Given the description of an element on the screen output the (x, y) to click on. 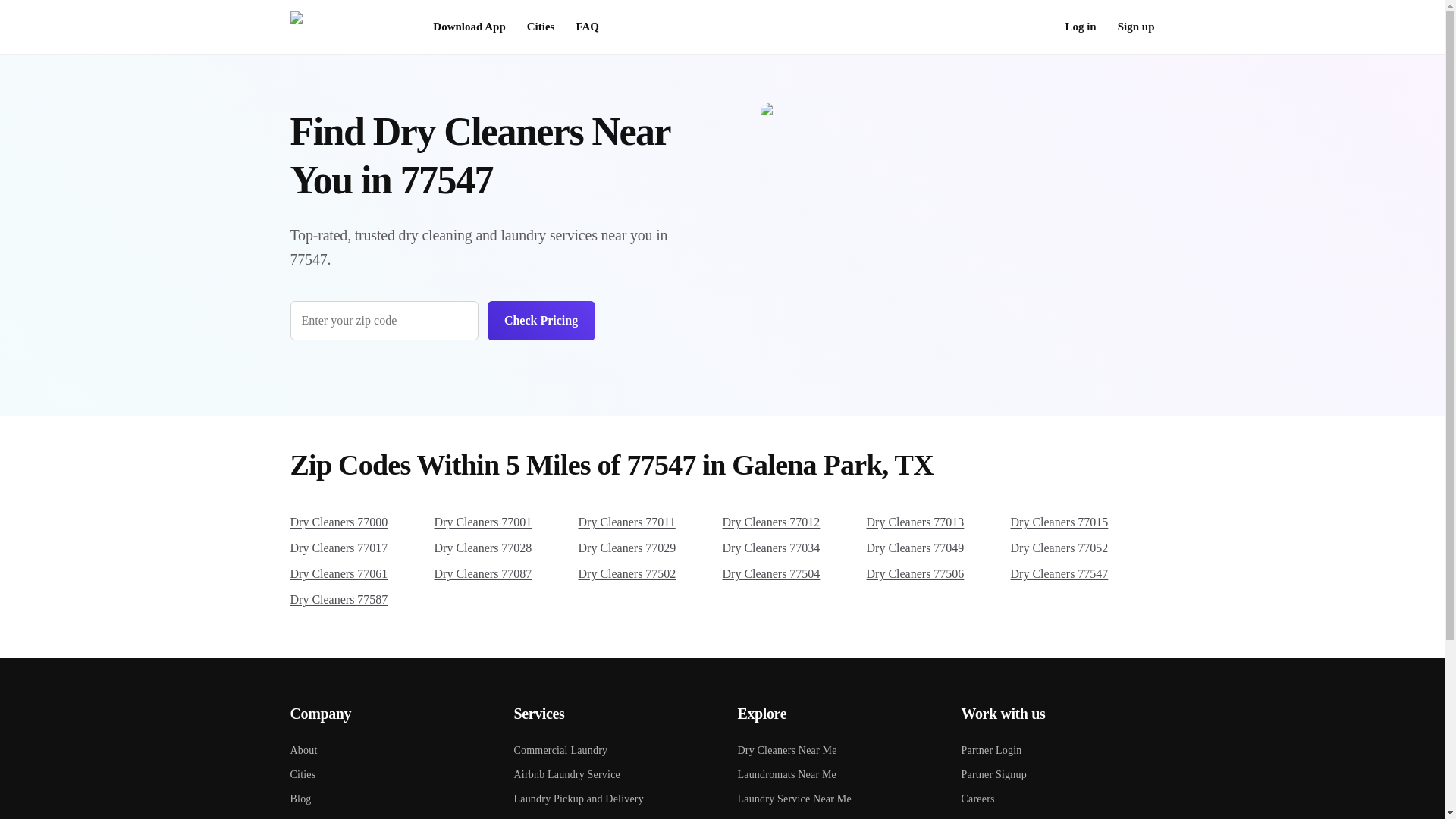
Dry Cleaners 77506 (938, 574)
Dry Cleaners 77504 (794, 574)
Dry Cleaners 77015 (1082, 522)
Dry Cleaners 77087 (505, 574)
Dry Cleaners 77011 (650, 522)
Download App (468, 26)
Cities (386, 768)
Dry Cleaners 77547 (1082, 574)
Dry Cleaners 77034 (794, 548)
Laundry Pickup and Delivery (610, 793)
Commercial Laundry (610, 744)
Dry Cleaners 77012 (794, 522)
Dry Cleaners 77000 (361, 522)
Dry Cleaners 77052 (1082, 548)
Dry Cleaners 77028 (505, 548)
